Given the description of an element on the screen output the (x, y) to click on. 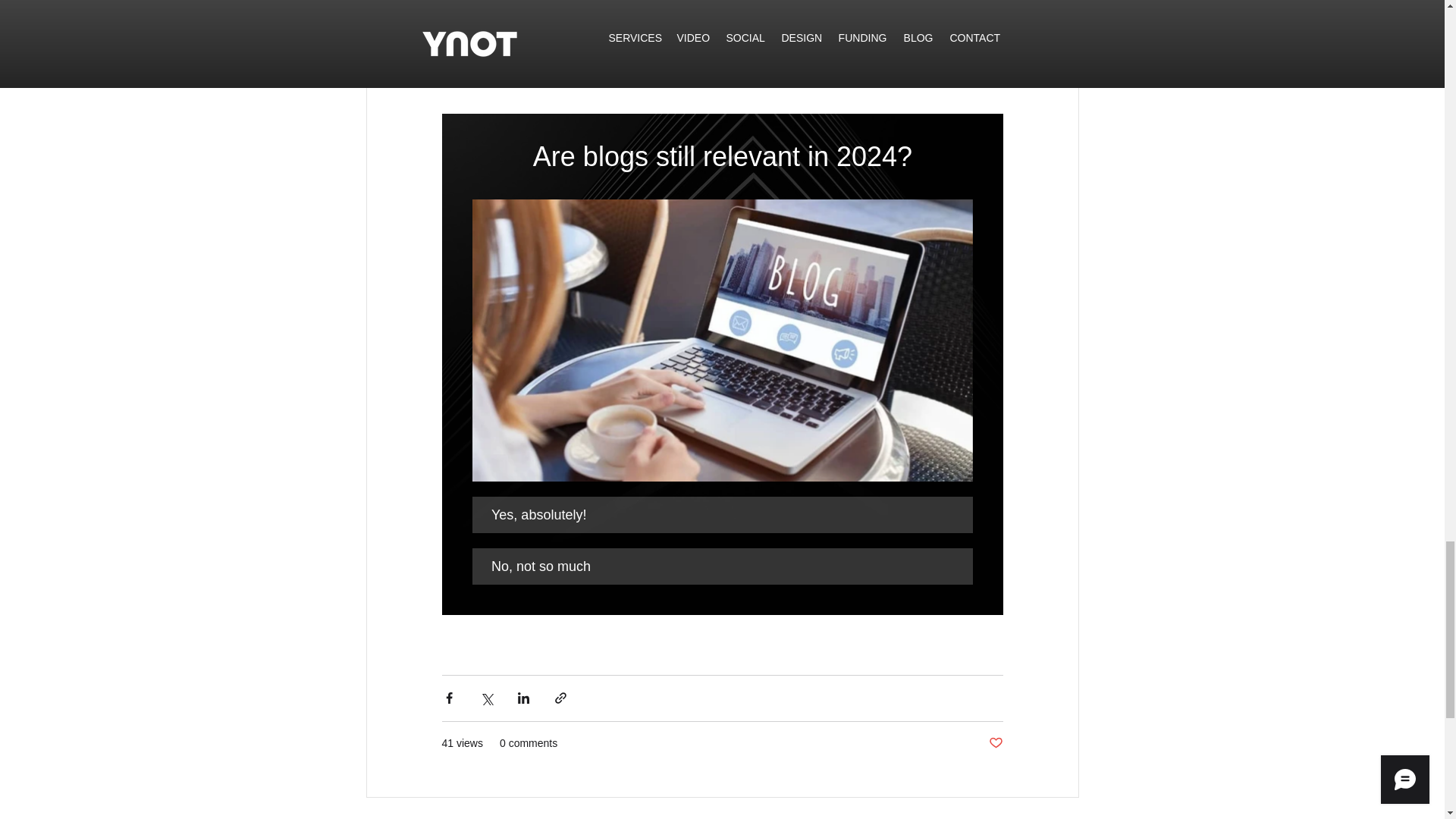
See All (1061, 816)
Post not marked as liked (995, 743)
